Given the description of an element on the screen output the (x, y) to click on. 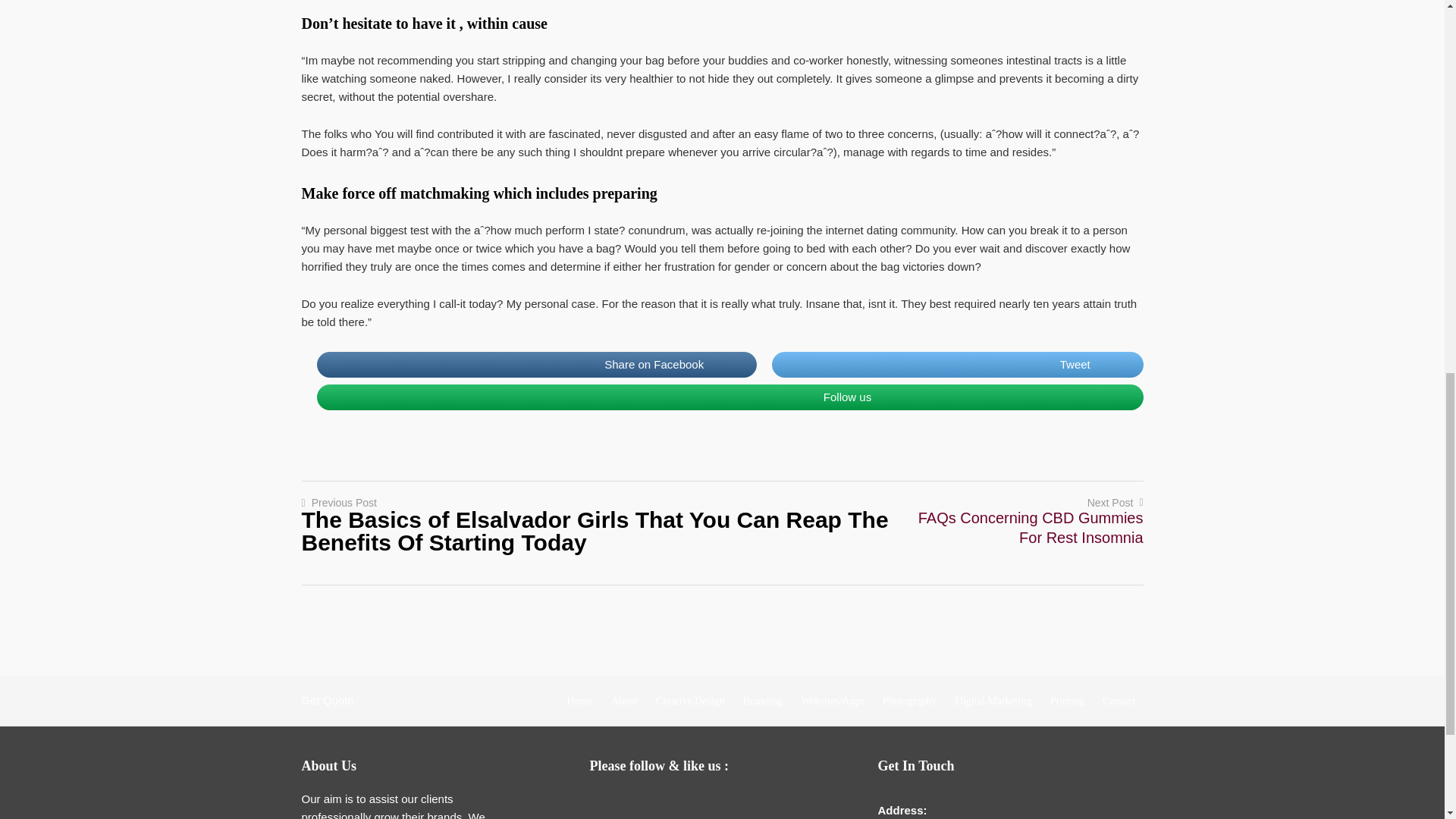
Instagram (728, 804)
LinkedIn (698, 804)
Facebook (637, 804)
Follow by Email (606, 804)
Twitter (667, 804)
